Given the description of an element on the screen output the (x, y) to click on. 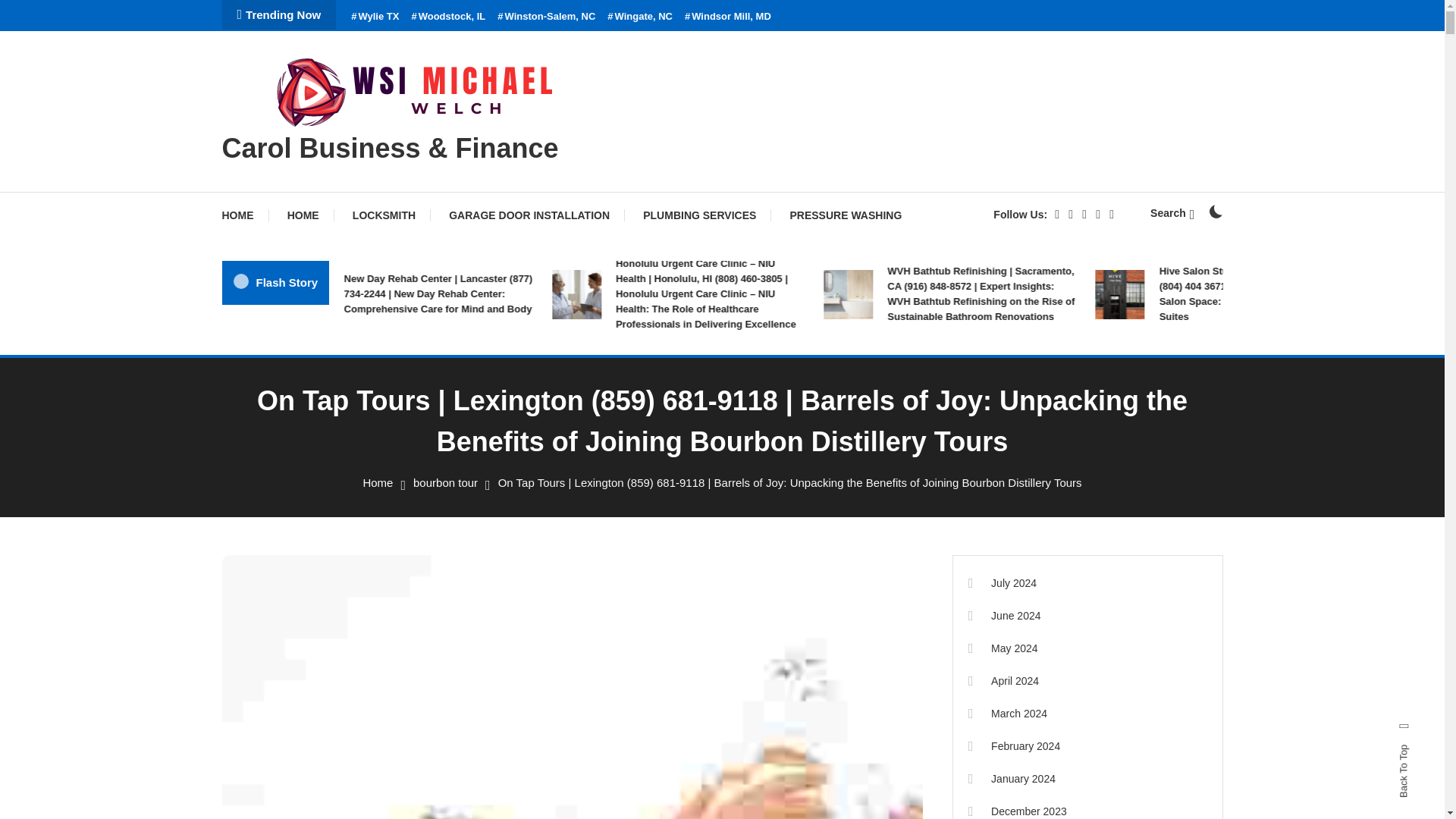
HOME (303, 215)
Winston-Salem, NC (546, 16)
LOCKSMITH (383, 215)
GARAGE DOOR INSTALLATION (528, 215)
Windsor Mill, MD (727, 16)
PLUMBING SERVICES (699, 215)
on (1215, 211)
Woodstock, IL (447, 16)
Wingate, NC (639, 16)
Search (1171, 213)
